Given the description of an element on the screen output the (x, y) to click on. 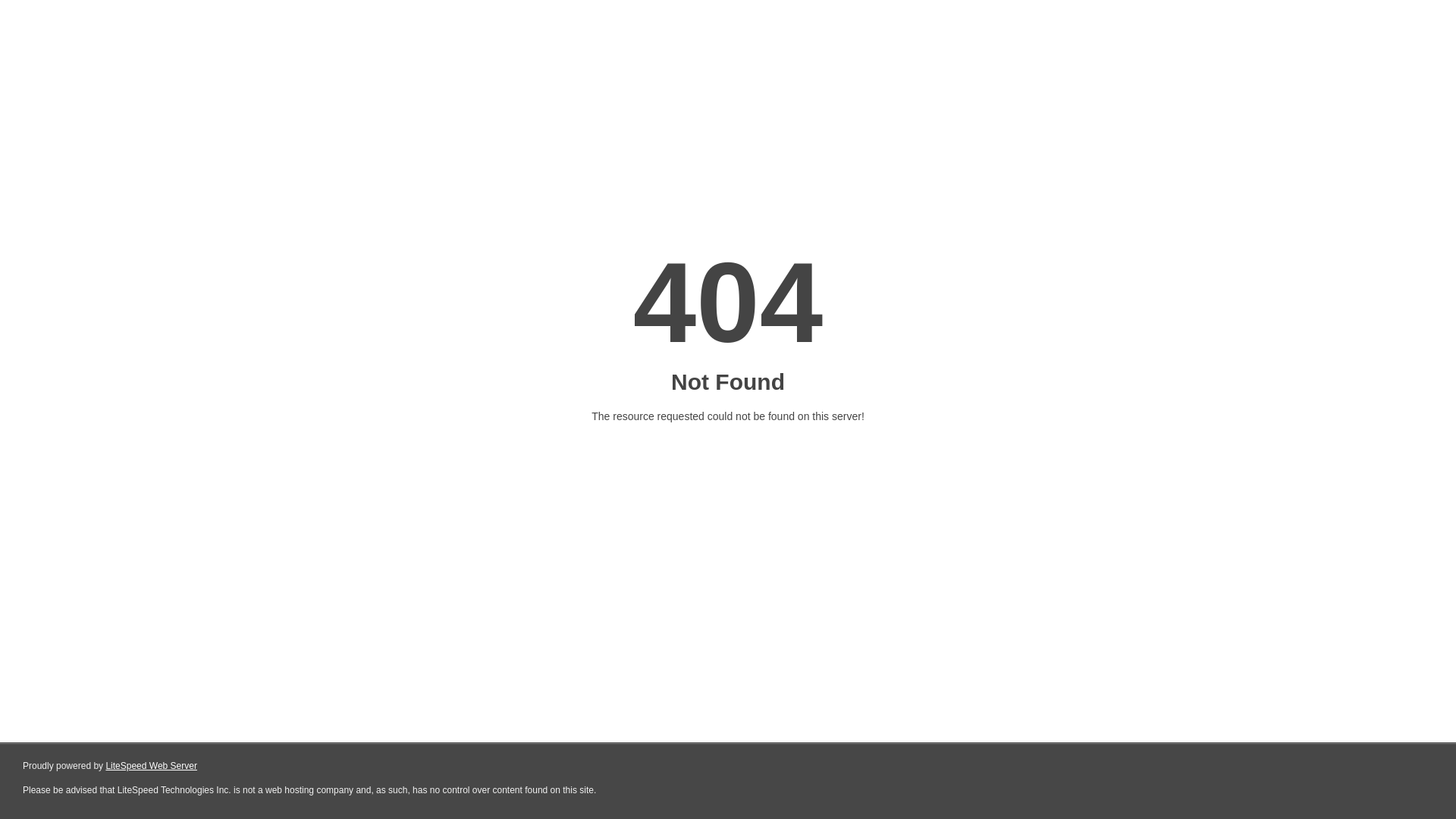
LiteSpeed Web Server Element type: text (151, 765)
